Given the description of an element on the screen output the (x, y) to click on. 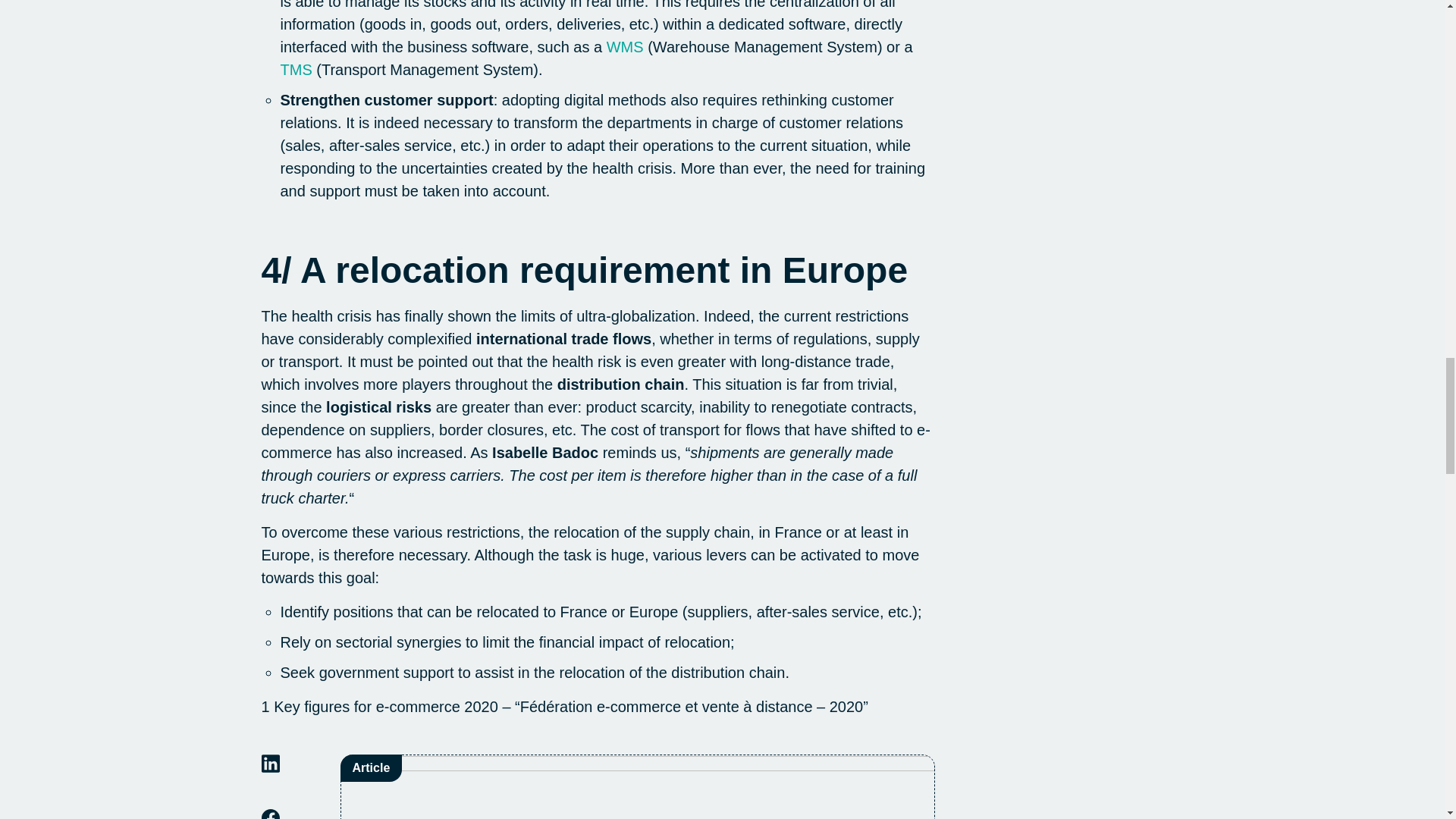
WMS (625, 46)
TMS (297, 69)
